Given the description of an element on the screen output the (x, y) to click on. 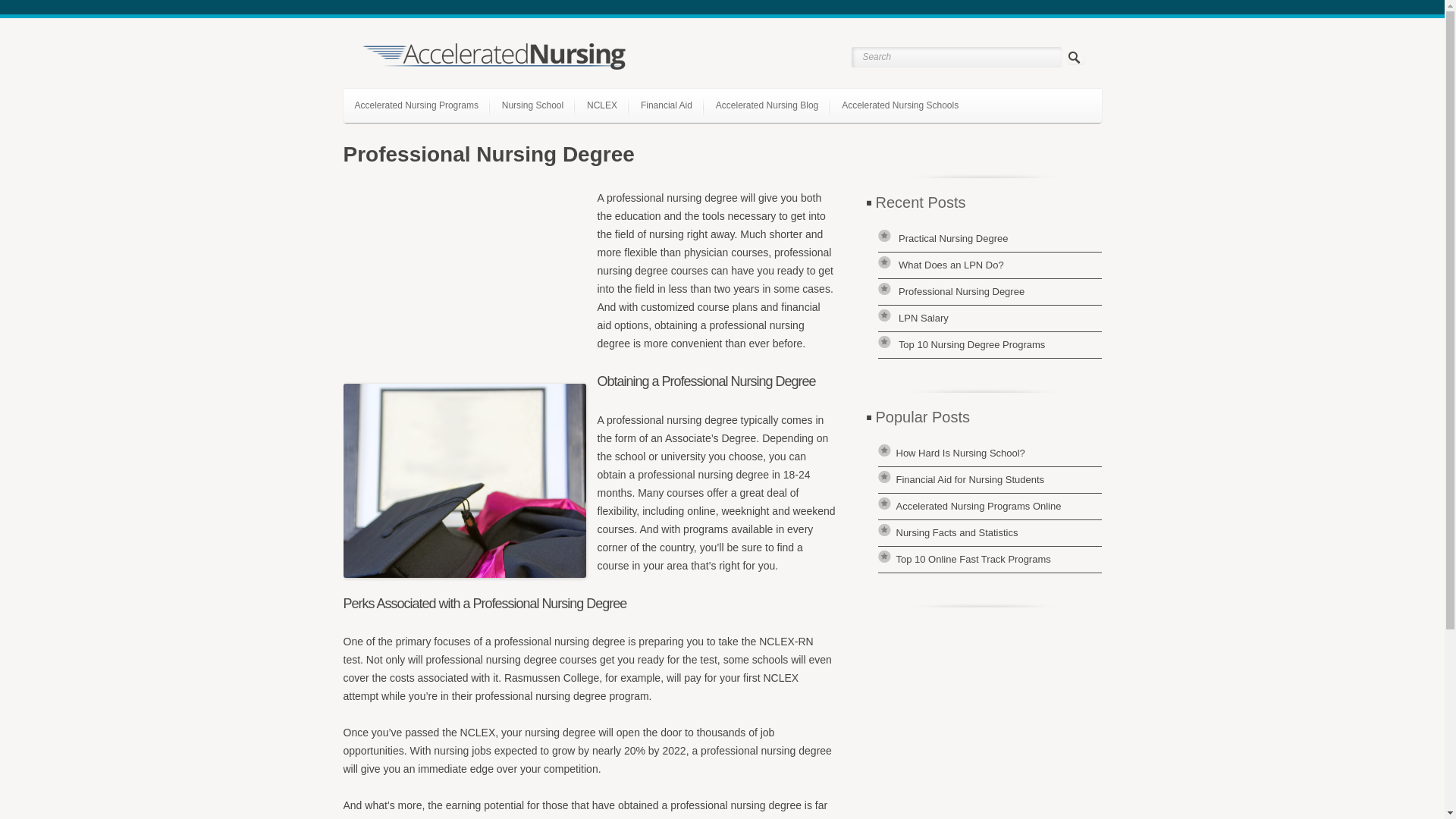
Financial Aid (666, 105)
Nursing Facts and Statistics (956, 532)
Accelerated BSN Programs (430, 137)
Practical Nursing Degree (952, 238)
Accelerated Nursing Schools (899, 105)
Nursing School (532, 105)
Financial Aid for Nursing Students (970, 479)
GO (1075, 57)
How Hard Is Nursing School? (960, 452)
What Does an LPN Do? (951, 265)
Professional Nursing Degree (961, 291)
Accelerated Nursing Programs Online (978, 505)
GO (1075, 57)
Search (955, 56)
